Given the description of an element on the screen output the (x, y) to click on. 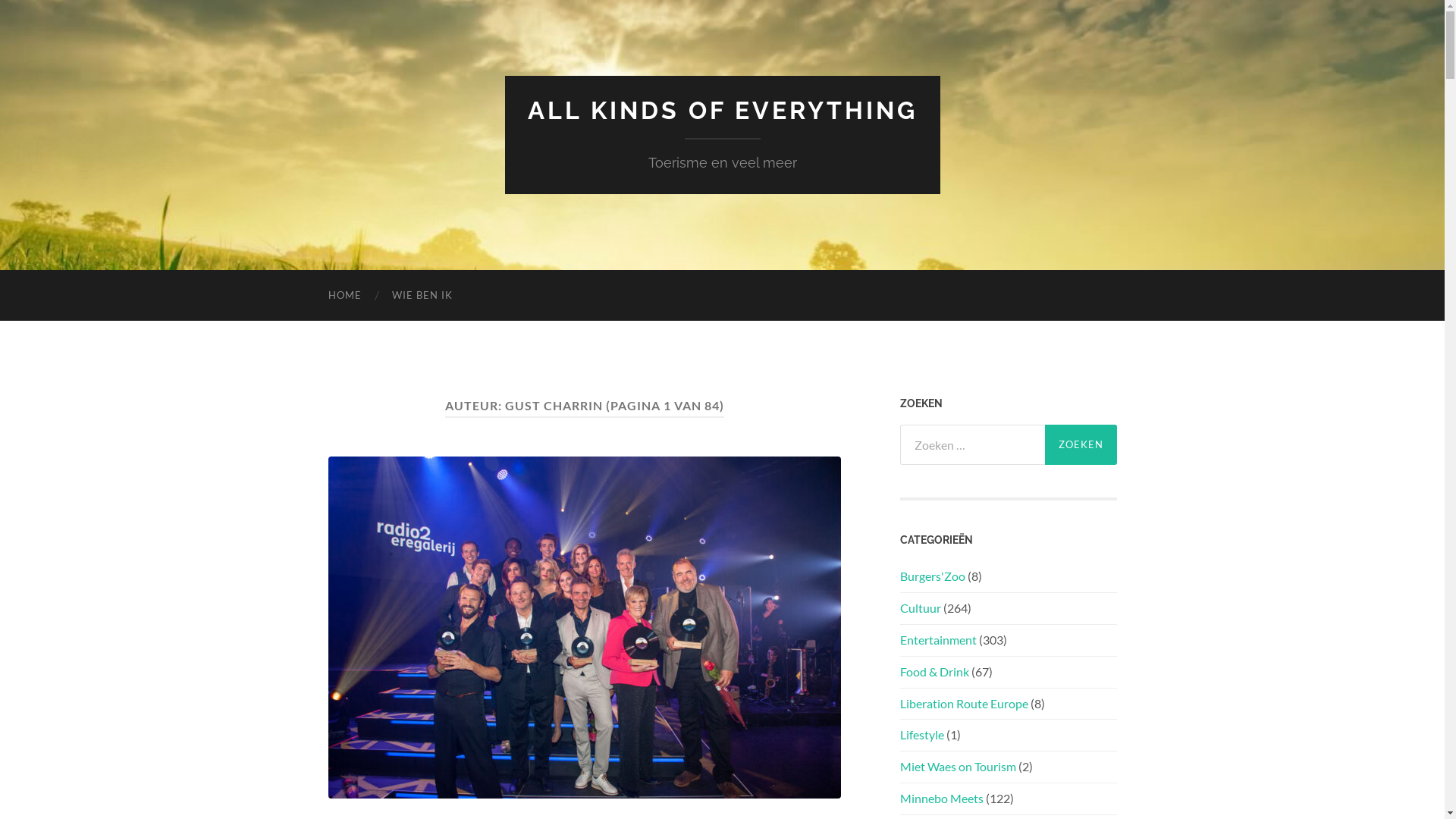
Zoeken Element type: text (1080, 444)
Food & Drink Element type: text (933, 671)
ALL KINDS OF EVERYTHING Element type: text (722, 110)
Minnebo Meets Element type: text (940, 797)
Entertainment Element type: text (937, 639)
WIE BEN IK Element type: text (421, 294)
Cultuur Element type: text (919, 607)
Miet Waes on Tourism Element type: text (957, 766)
HOME Element type: text (344, 294)
Lifestyle Element type: text (921, 734)
Burgers'Zoo Element type: text (931, 575)
Liberation Route Europe Element type: text (963, 703)
